Given the description of an element on the screen output the (x, y) to click on. 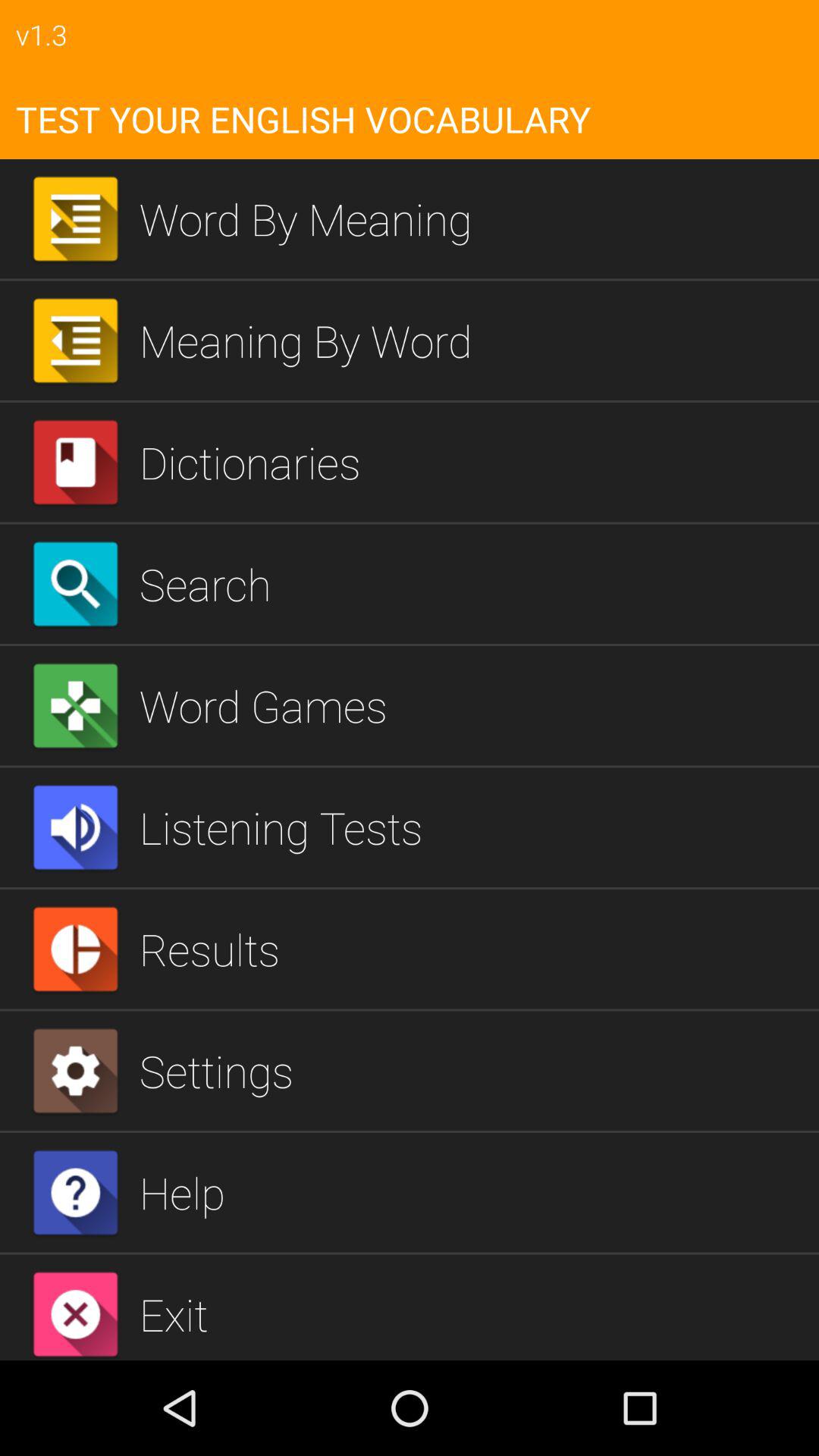
turn off the icon below the dictionaries (473, 583)
